Given the description of an element on the screen output the (x, y) to click on. 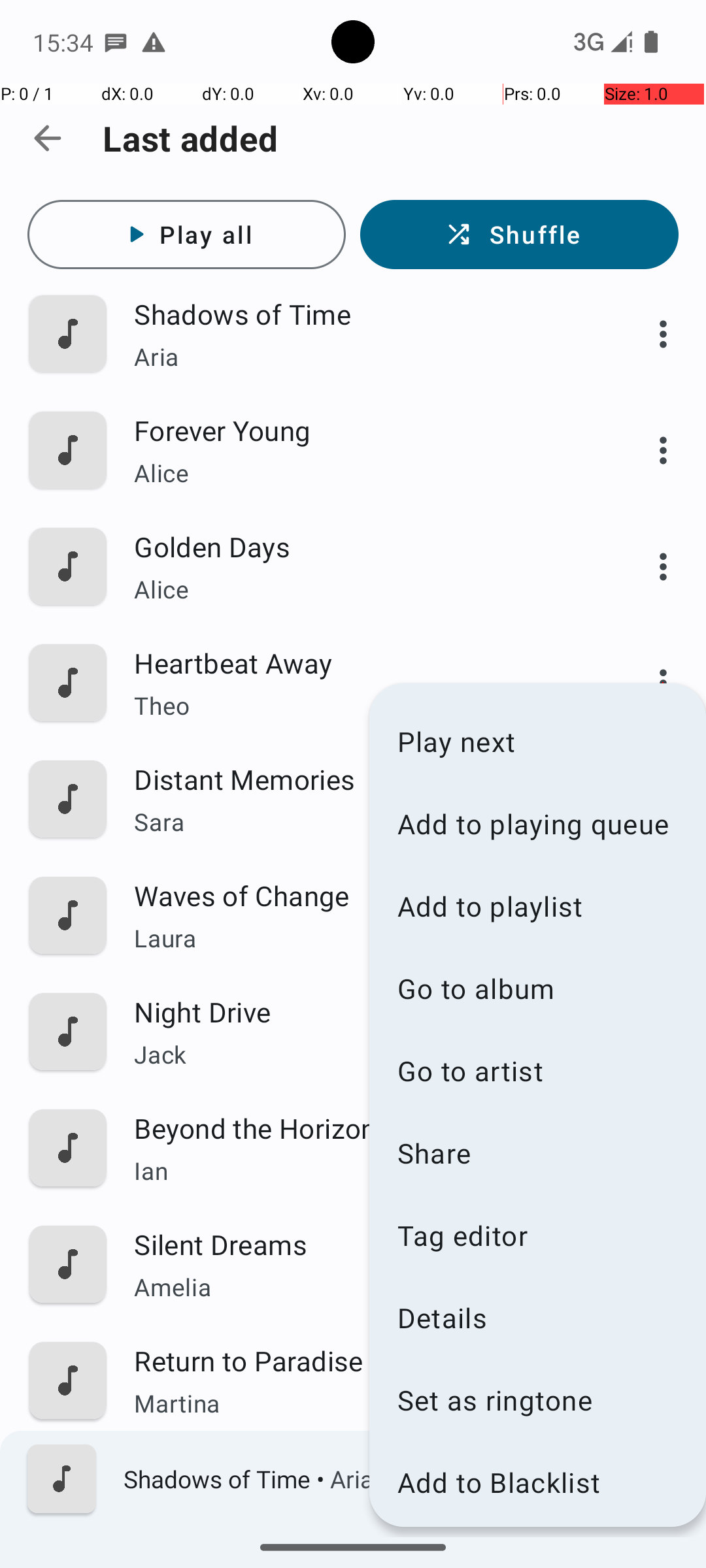
Play next Element type: android.widget.TextView (537, 740)
Add to playing queue Element type: android.widget.TextView (537, 823)
Add to playlist Element type: android.widget.TextView (537, 905)
Go to album Element type: android.widget.TextView (537, 987)
Go to artist Element type: android.widget.TextView (537, 1070)
Tag editor Element type: android.widget.TextView (537, 1234)
Details Element type: android.widget.TextView (537, 1317)
Set as ringtone Element type: android.widget.TextView (537, 1399)
Add to Blacklist Element type: android.widget.TextView (537, 1481)
